Given the description of an element on the screen output the (x, y) to click on. 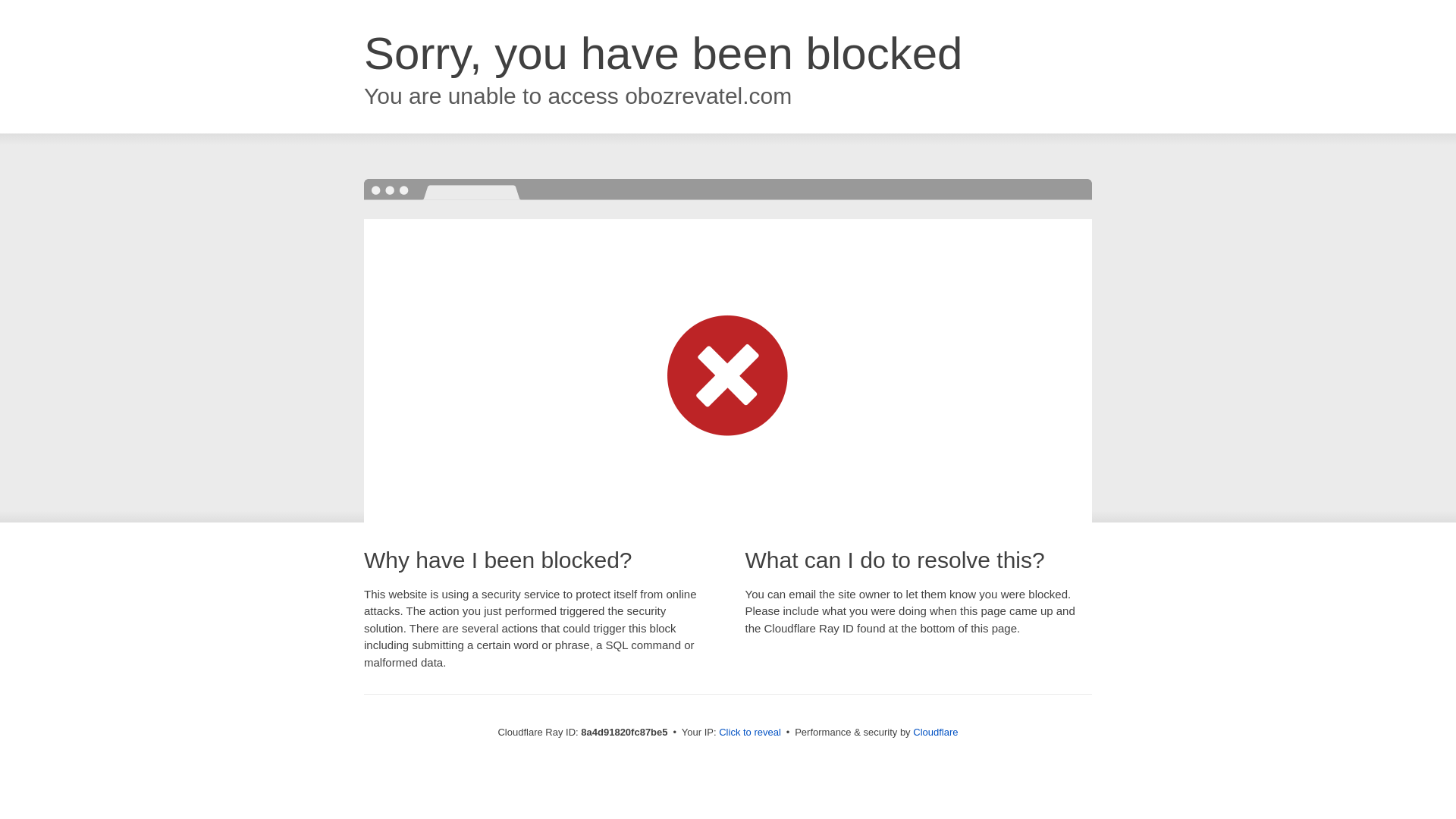
Click to reveal (749, 732)
Cloudflare (935, 731)
